Given the description of an element on the screen output the (x, y) to click on. 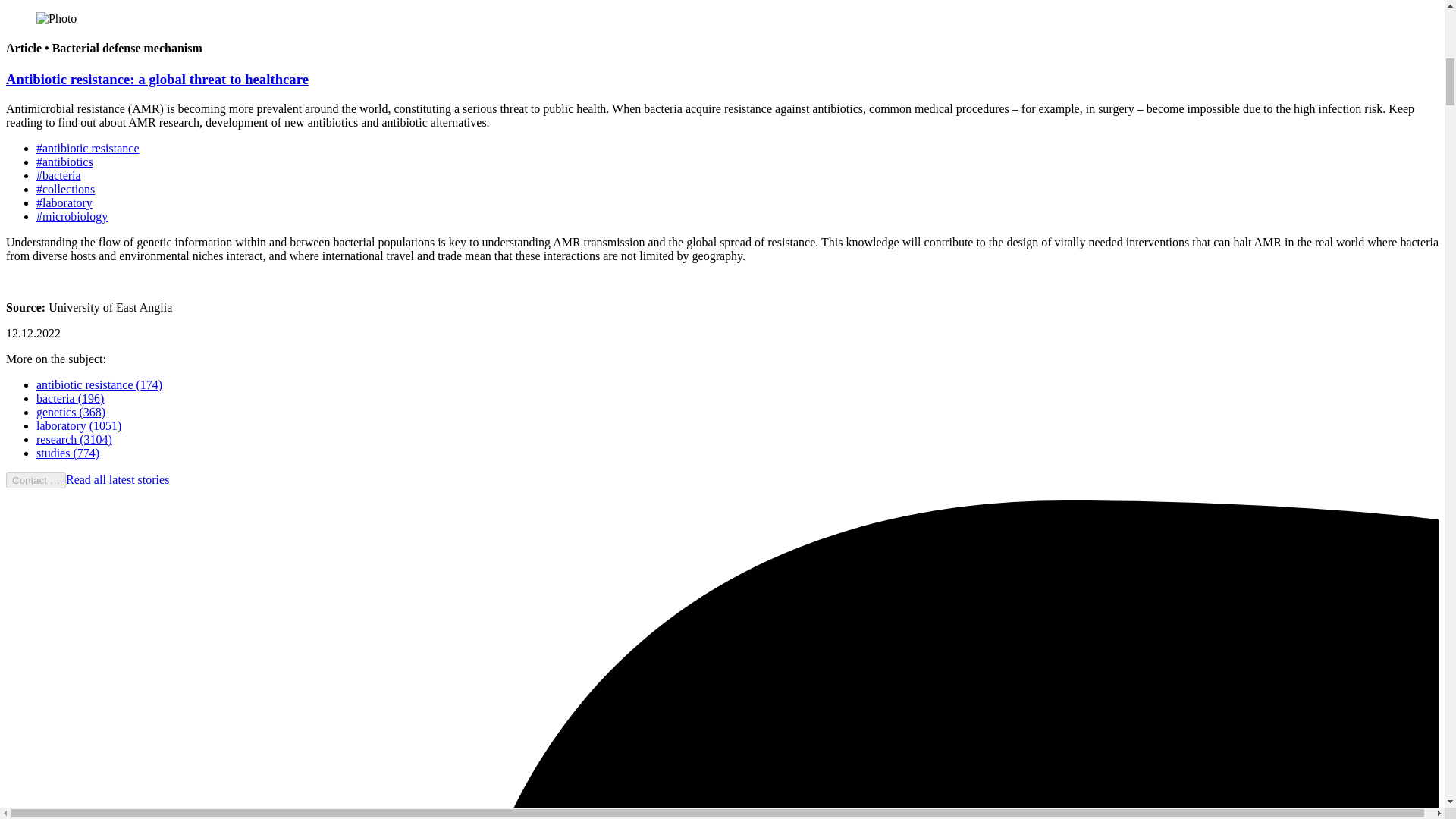
Read all latest stories (116, 479)
Antibiotic resistance: a global threat to healthcare (156, 78)
Antibiotic resistance: a global threat to healthcare (156, 78)
